Given the description of an element on the screen output the (x, y) to click on. 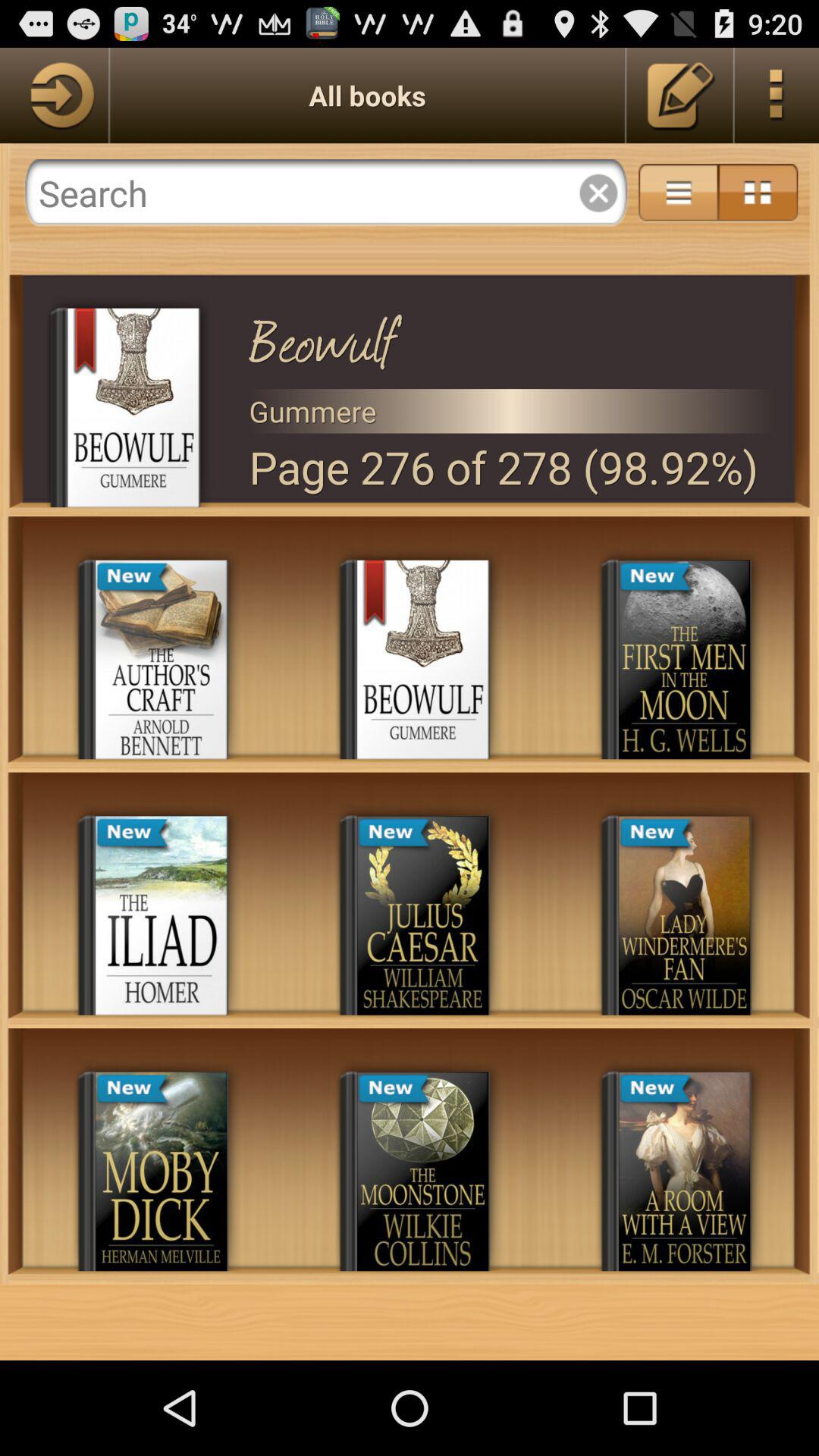
cancel button (598, 192)
